Given the description of an element on the screen output the (x, y) to click on. 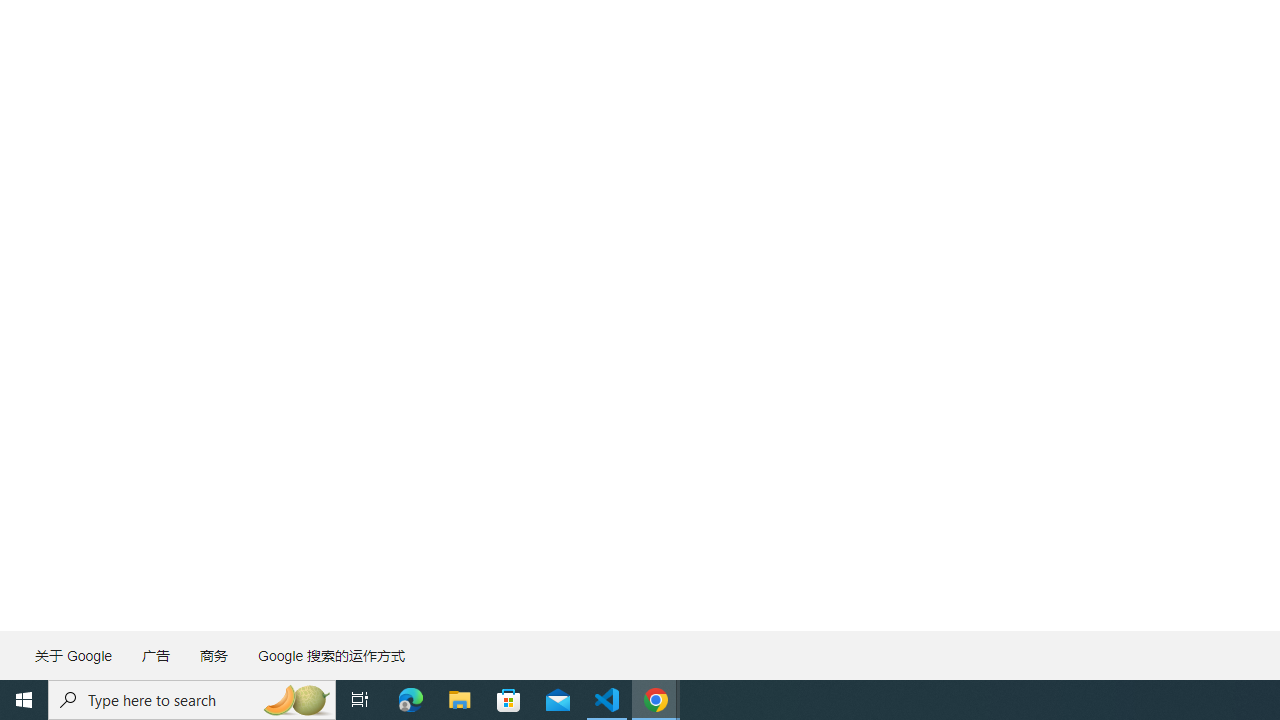
Start (24, 699)
Type here to search (191, 699)
Microsoft Store (509, 699)
Search highlights icon opens search home window (295, 699)
Visual Studio Code - 1 running window (607, 699)
File Explorer (460, 699)
Google Chrome - 2 running windows (656, 699)
Microsoft Edge (411, 699)
Task View (359, 699)
